Given the description of an element on the screen output the (x, y) to click on. 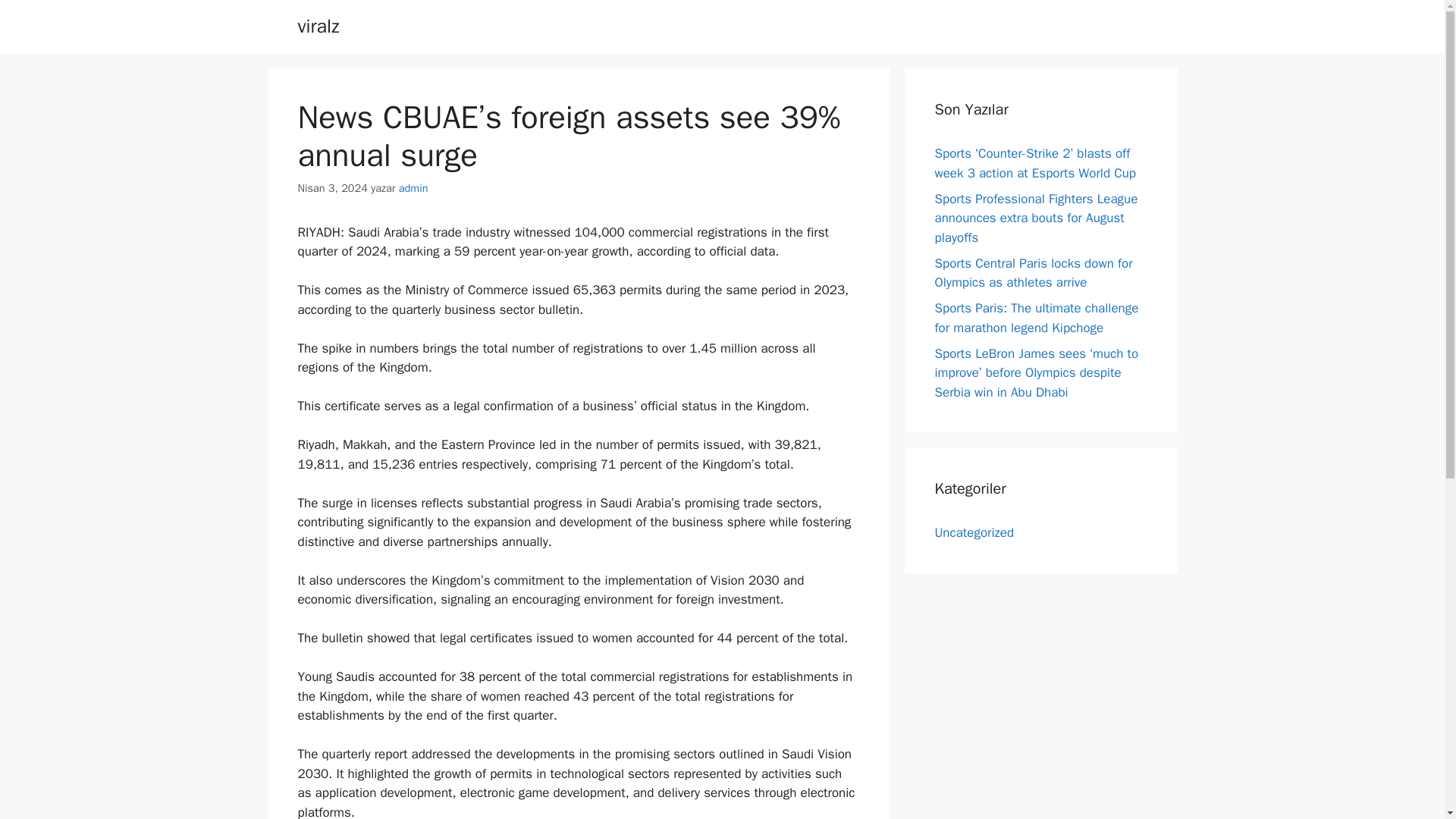
Uncategorized (973, 532)
admin (413, 187)
viralz (318, 25)
